Given the description of an element on the screen output the (x, y) to click on. 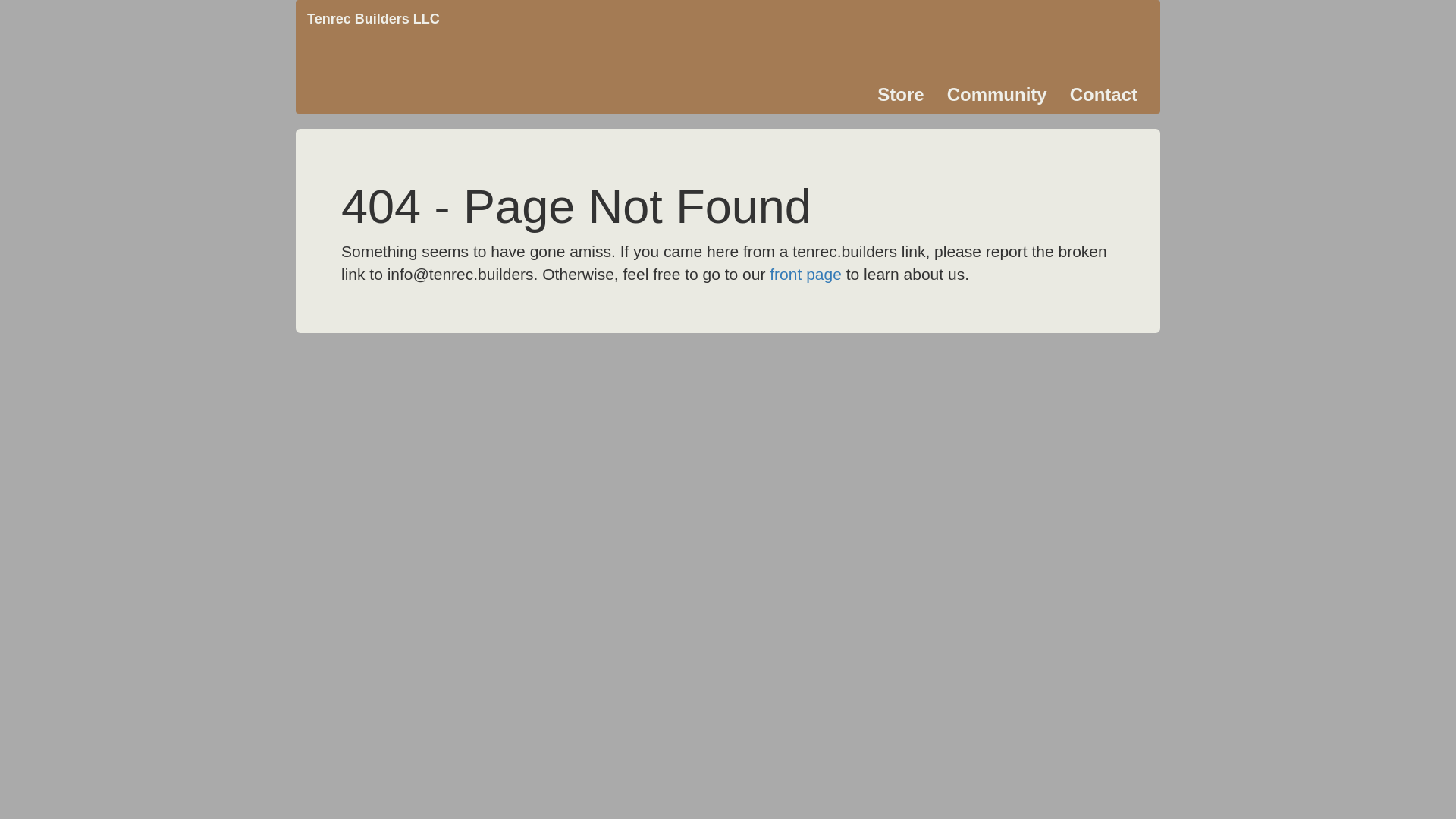
Contact Element type: text (1103, 94)
Community Element type: text (996, 94)
Tenrec Builders LLC Element type: text (373, 18)
Store Element type: text (900, 94)
front page Element type: text (805, 273)
